Given the description of an element on the screen output the (x, y) to click on. 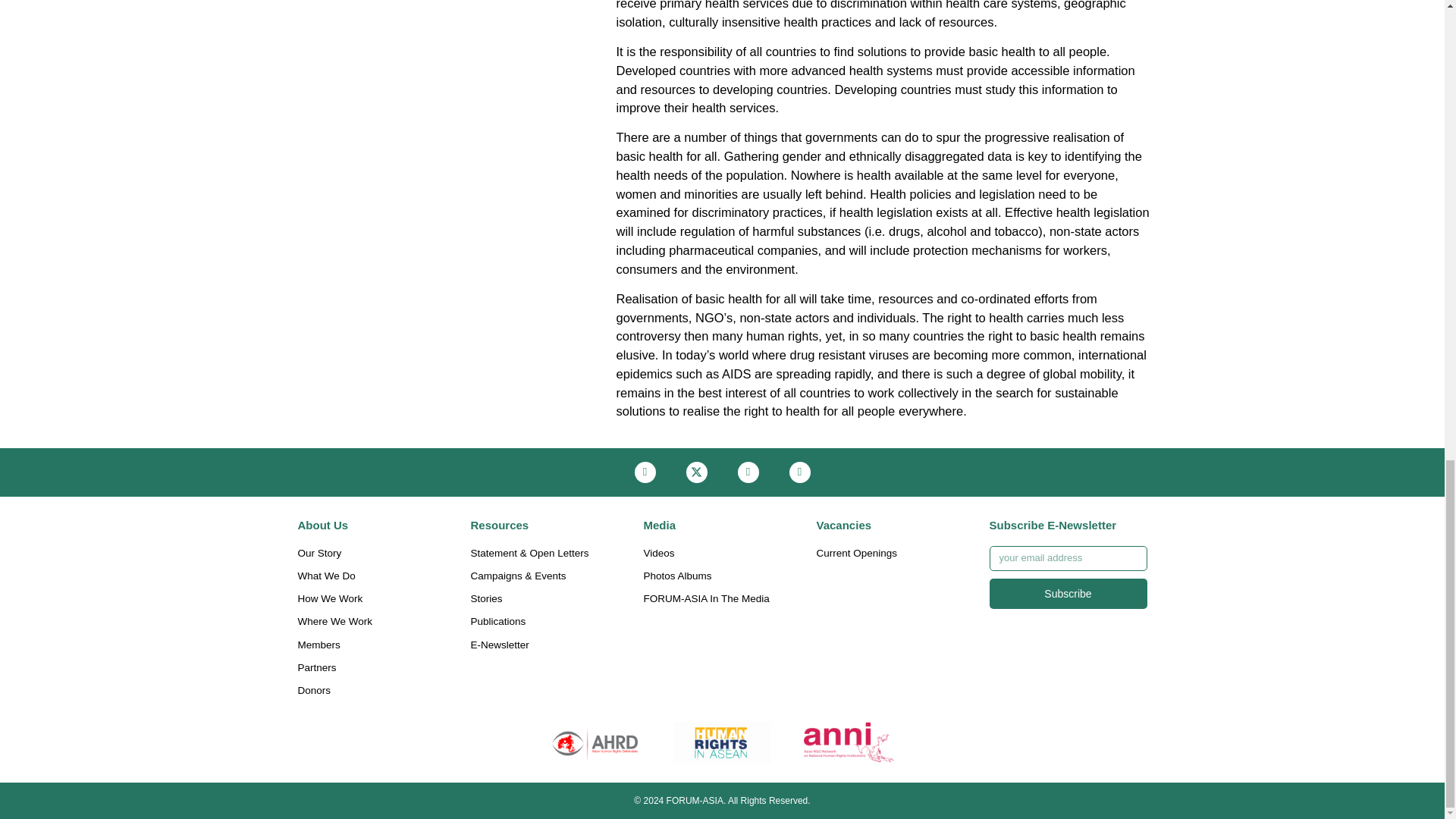
Default Title (848, 741)
Default Title (722, 741)
Default Title (595, 741)
